Given the description of an element on the screen output the (x, y) to click on. 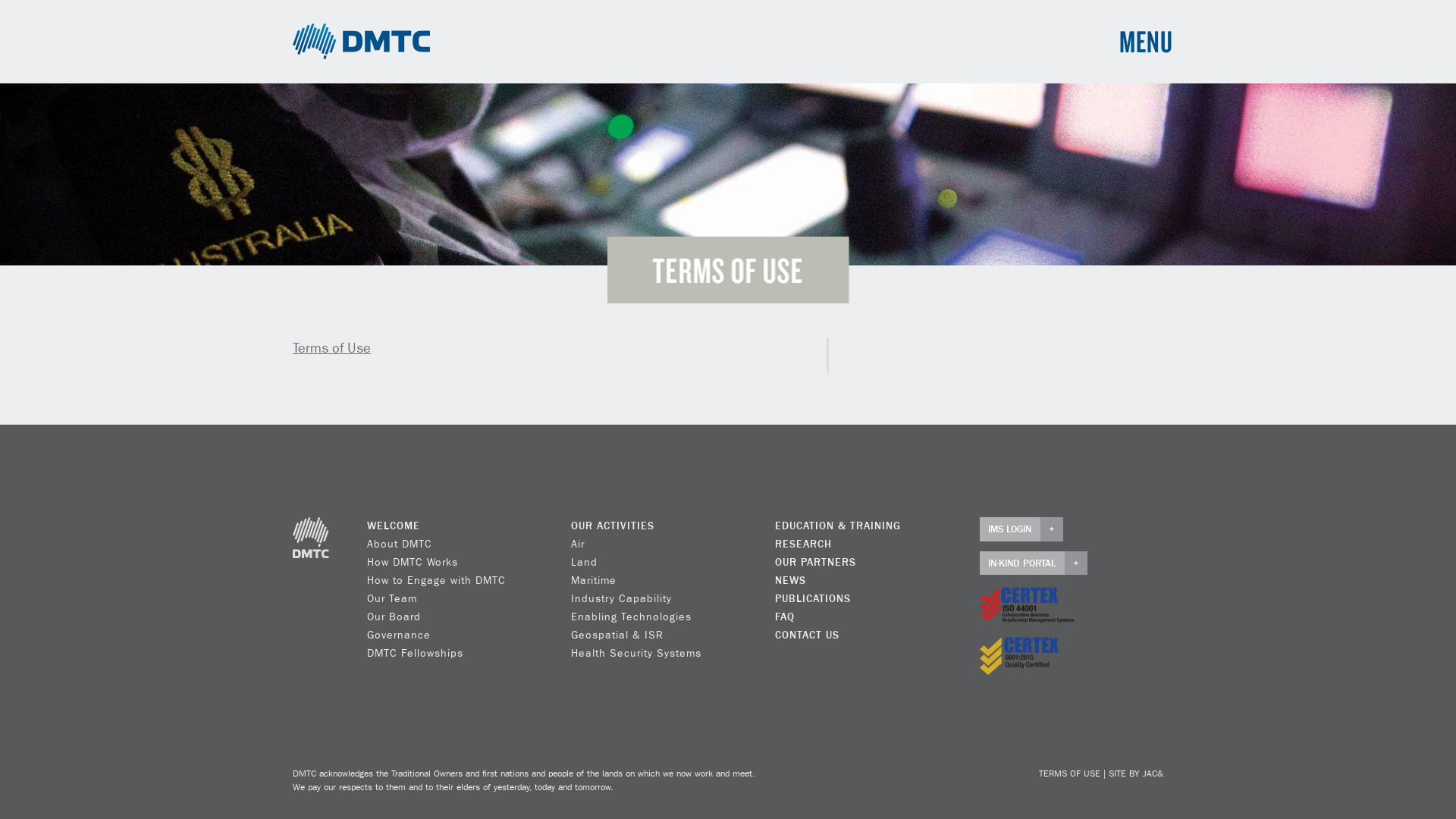
OUR ACTIVITIES Element type: text (612, 525)
Maritime Element type: text (593, 580)
How DMTC Works Element type: text (412, 562)
How to Engage with DMTC Element type: text (436, 580)
Governance Element type: text (398, 635)
Our Board Element type: text (393, 616)
Certex Element type: text (1026, 605)
Terms of Use Element type: text (331, 348)
NEWS Element type: text (790, 580)
TERMS OF USE Element type: text (1069, 773)
IMS LOGIN Element type: text (1021, 529)
RESEARCH Element type: text (803, 544)
DMTC Element type: text (361, 41)
OUR PARTNERS Element type: text (815, 562)
Enabling Technologies Element type: text (631, 616)
EDUCATION & TRAINING Element type: text (837, 525)
PUBLICATIONS Element type: text (812, 598)
Industry Capability Element type: text (621, 598)
WELCOME Element type: text (393, 525)
About DMTC Element type: text (399, 544)
Geospatial & ISR Element type: text (617, 635)
Air Element type: text (577, 544)
CONTACT US Element type: text (807, 635)
Land Element type: text (584, 562)
Certex Element type: text (1018, 655)
SITE BY JAC& Element type: text (1135, 773)
Our Team Element type: text (392, 598)
IN-KIND PORTAL Element type: text (1033, 563)
DMTC Fellowships Element type: text (415, 653)
Health Security Systems Element type: text (636, 653)
FAQ Element type: text (784, 616)
